Given the description of an element on the screen output the (x, y) to click on. 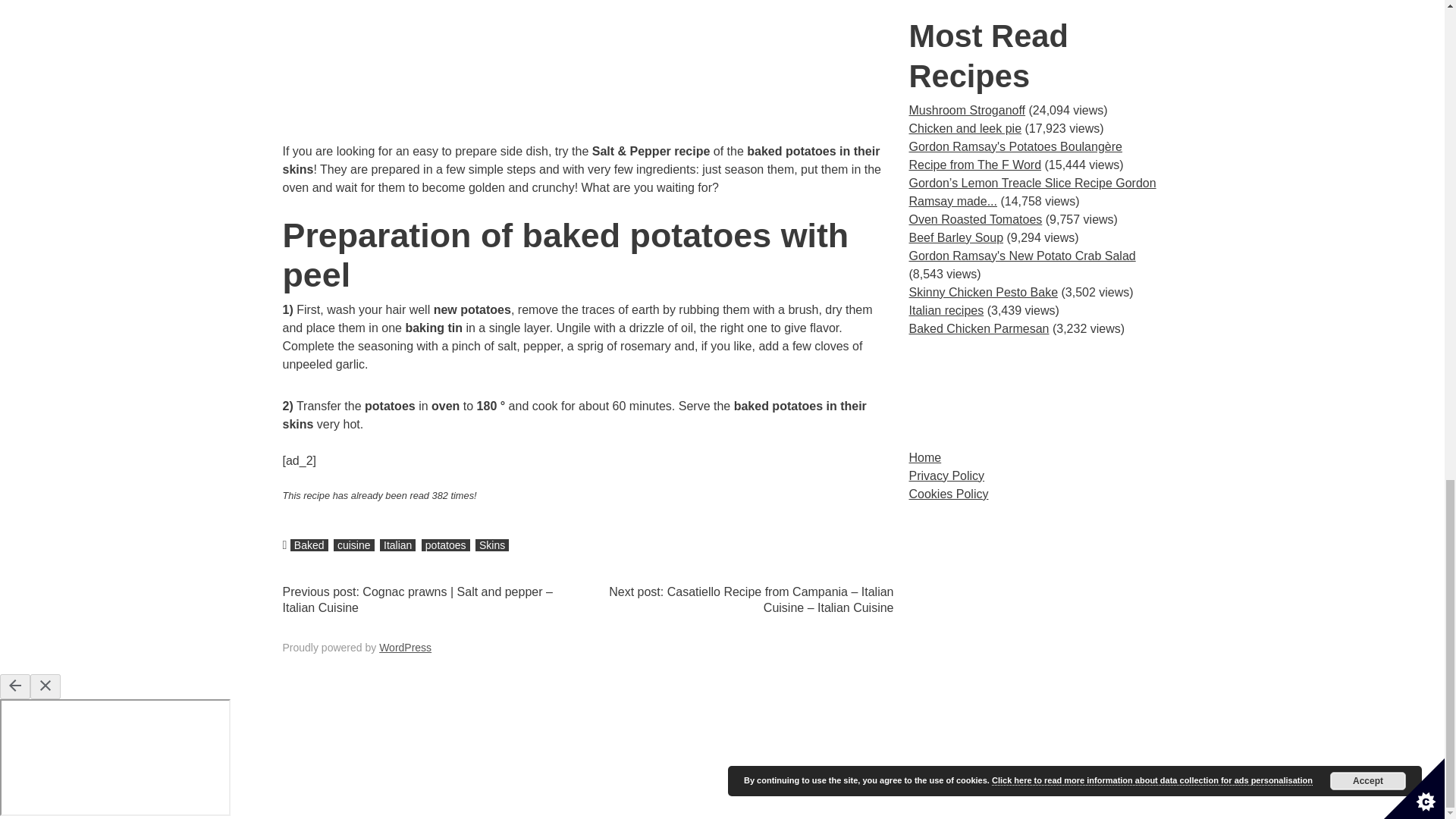
Skinny Chicken Pesto Bake (983, 291)
Baked Chicken Parmesan (978, 328)
cuisine (353, 544)
Italian recipes (946, 309)
Italian (397, 544)
Oven Roasted Tomatoes (975, 219)
Mushroom Stroganoff (966, 110)
Beef Barley Soup (955, 237)
Advertisement (587, 71)
Gordon Ramsay's New Potato Crab Salad (1021, 255)
Skins (492, 544)
Baked (309, 544)
Chicken and leek pie (965, 128)
Advertisement (1034, 393)
potatoes (446, 544)
